Given the description of an element on the screen output the (x, y) to click on. 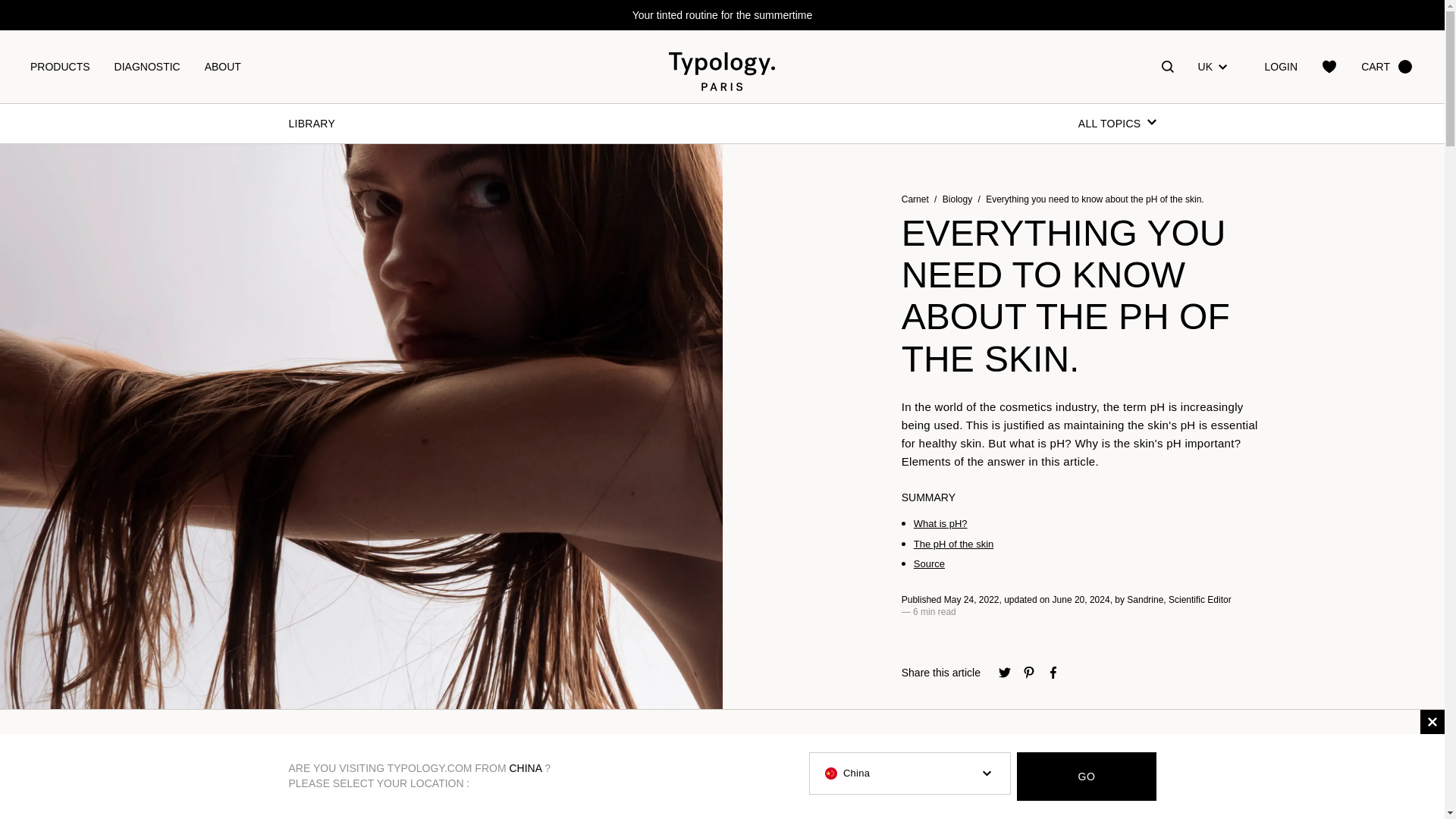
PRODUCTS (59, 66)
Your tinted routine for the summertime (721, 14)
